Given the description of an element on the screen output the (x, y) to click on. 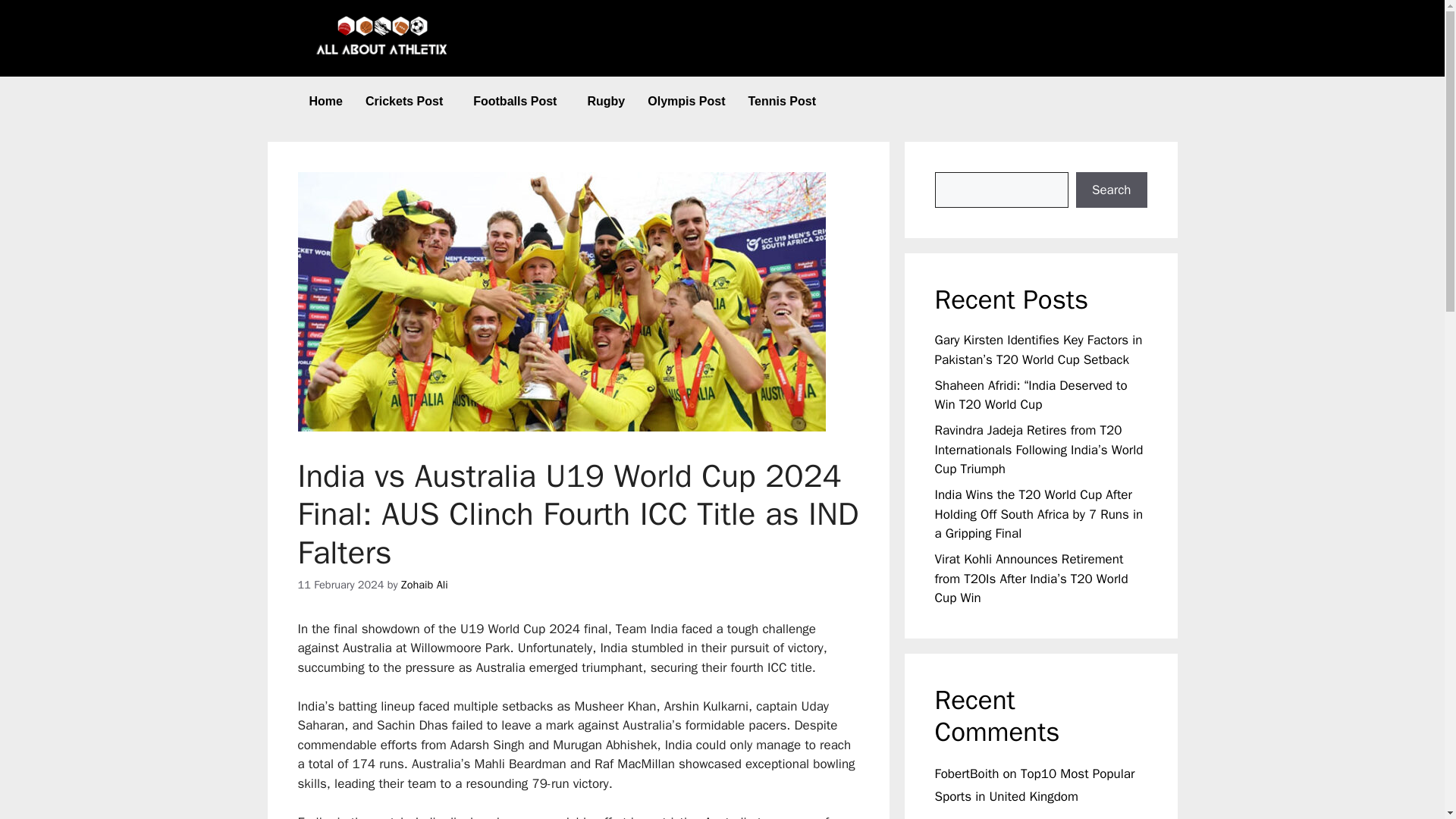
Tennis Post (781, 101)
View all posts by Zohaib Ali (424, 584)
Olympis Post (686, 101)
Search (1111, 189)
Rugby (605, 101)
Zohaib Ali (424, 584)
FobertBoith (966, 773)
Crickets Post (407, 101)
Home (325, 101)
